Given the description of an element on the screen output the (x, y) to click on. 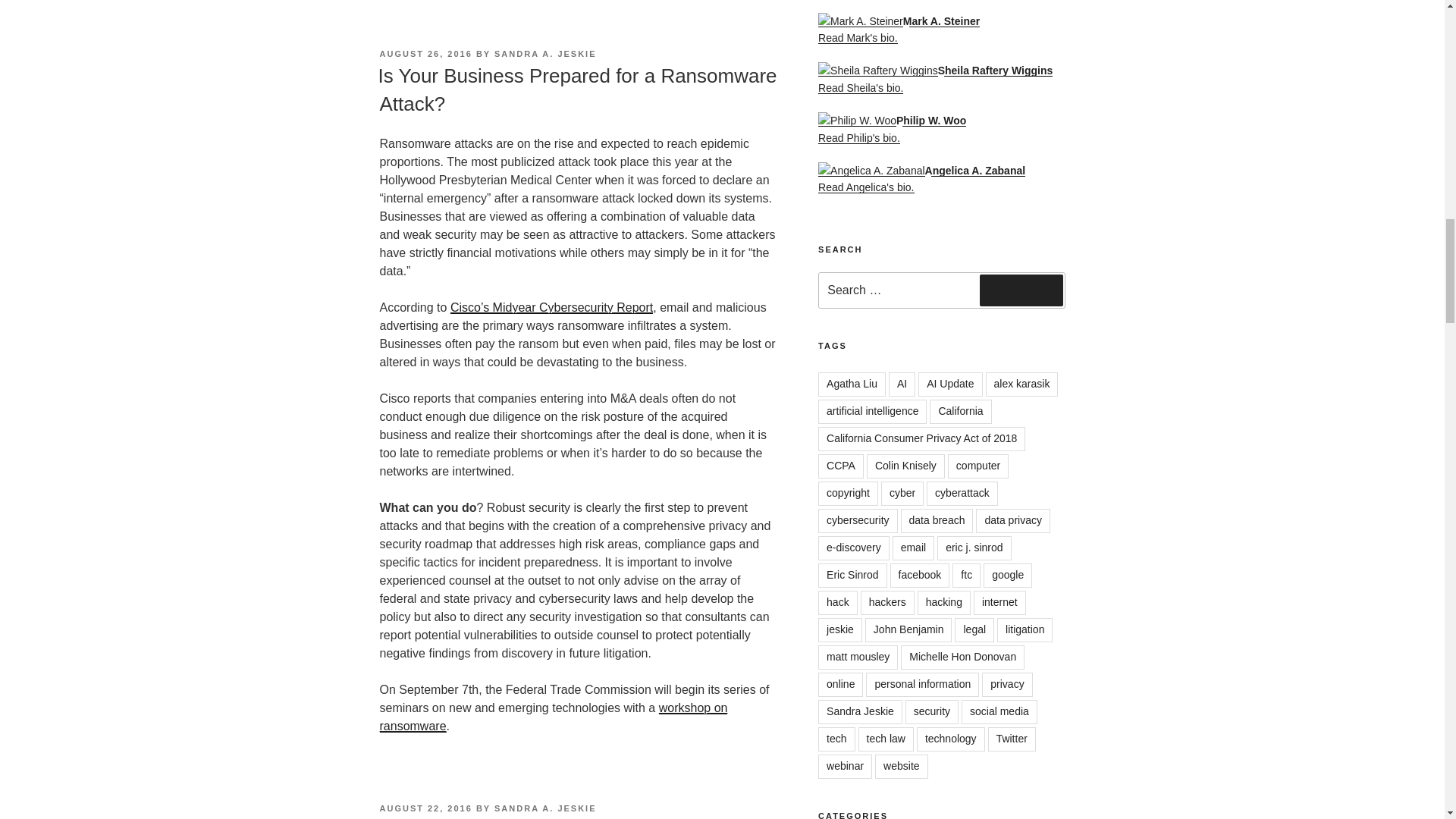
SANDRA A. JESKIE (545, 53)
AUGUST 22, 2016 (424, 808)
AUGUST 26, 2016 (424, 53)
workshop on ransomware (552, 716)
SANDRA A. JESKIE (545, 808)
Is Your Business Prepared for a Ransomware Attack? (576, 89)
